Given the description of an element on the screen output the (x, y) to click on. 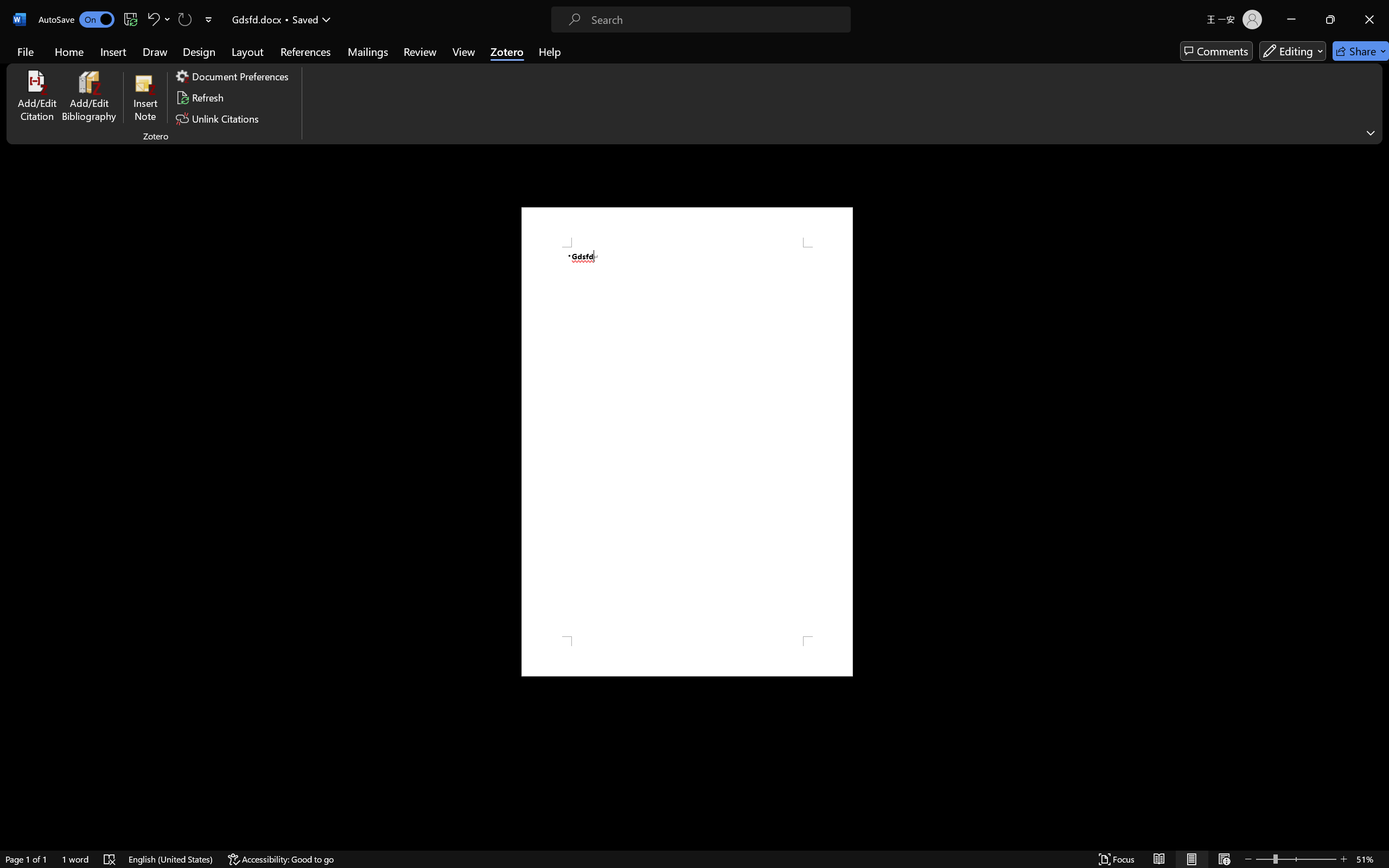
Page 1 content (686, 441)
